Given the description of an element on the screen output the (x, y) to click on. 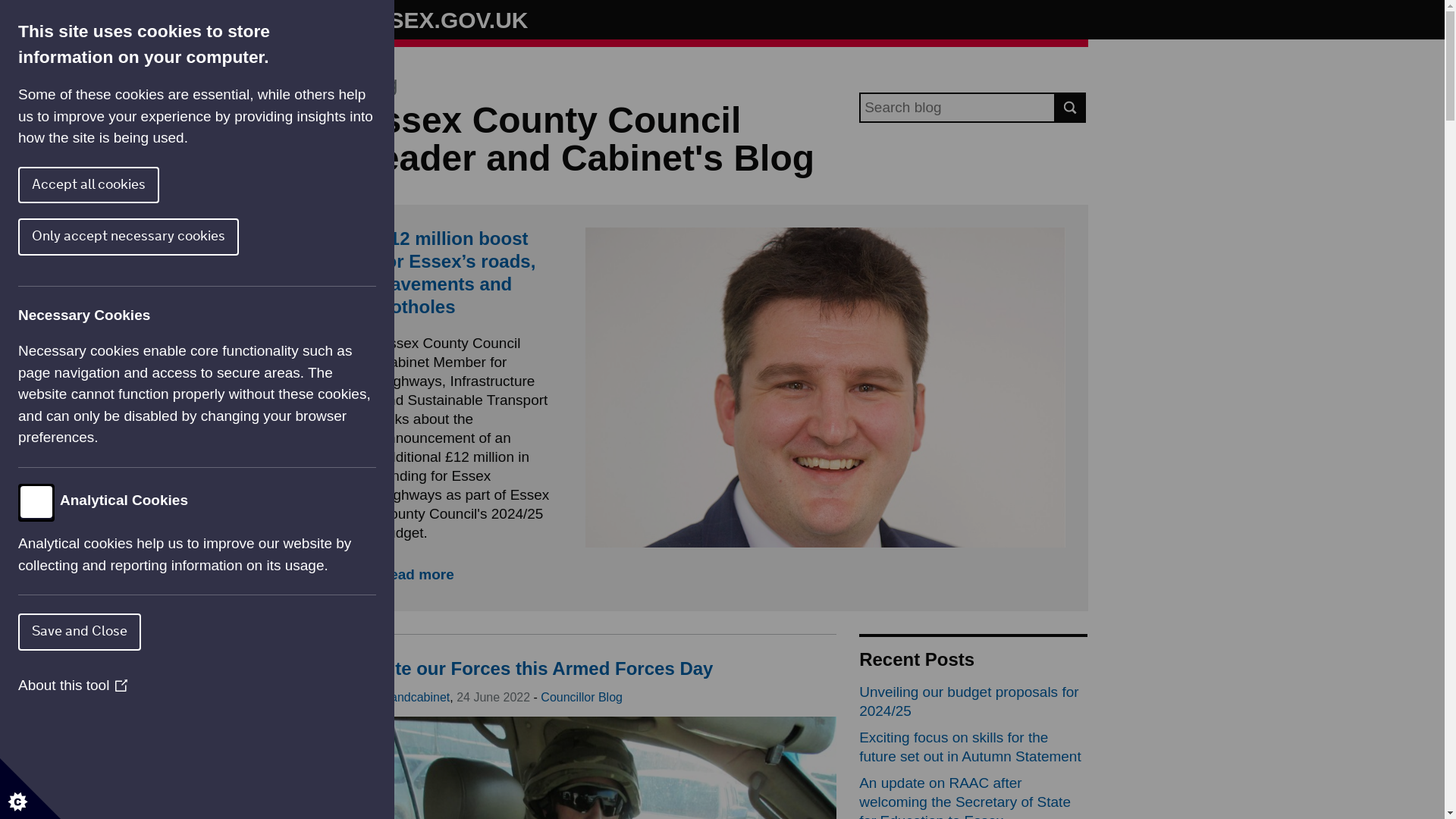
Essex County Council Leader and Cabinet's Blog (584, 138)
Save and Close (22, 631)
Salute our Forces this Armed Forces Day (534, 668)
Posts by leaderandcabinet (402, 697)
Search (1070, 107)
Search (1070, 107)
Only accept necessary cookies (49, 236)
Councillor Blog (581, 697)
Link to essex.gov.uk site. (442, 20)
Read more (415, 574)
leaderandcabinet (402, 697)
ESSEX.GOV.UK (442, 20)
Blog (376, 83)
